Given the description of an element on the screen output the (x, y) to click on. 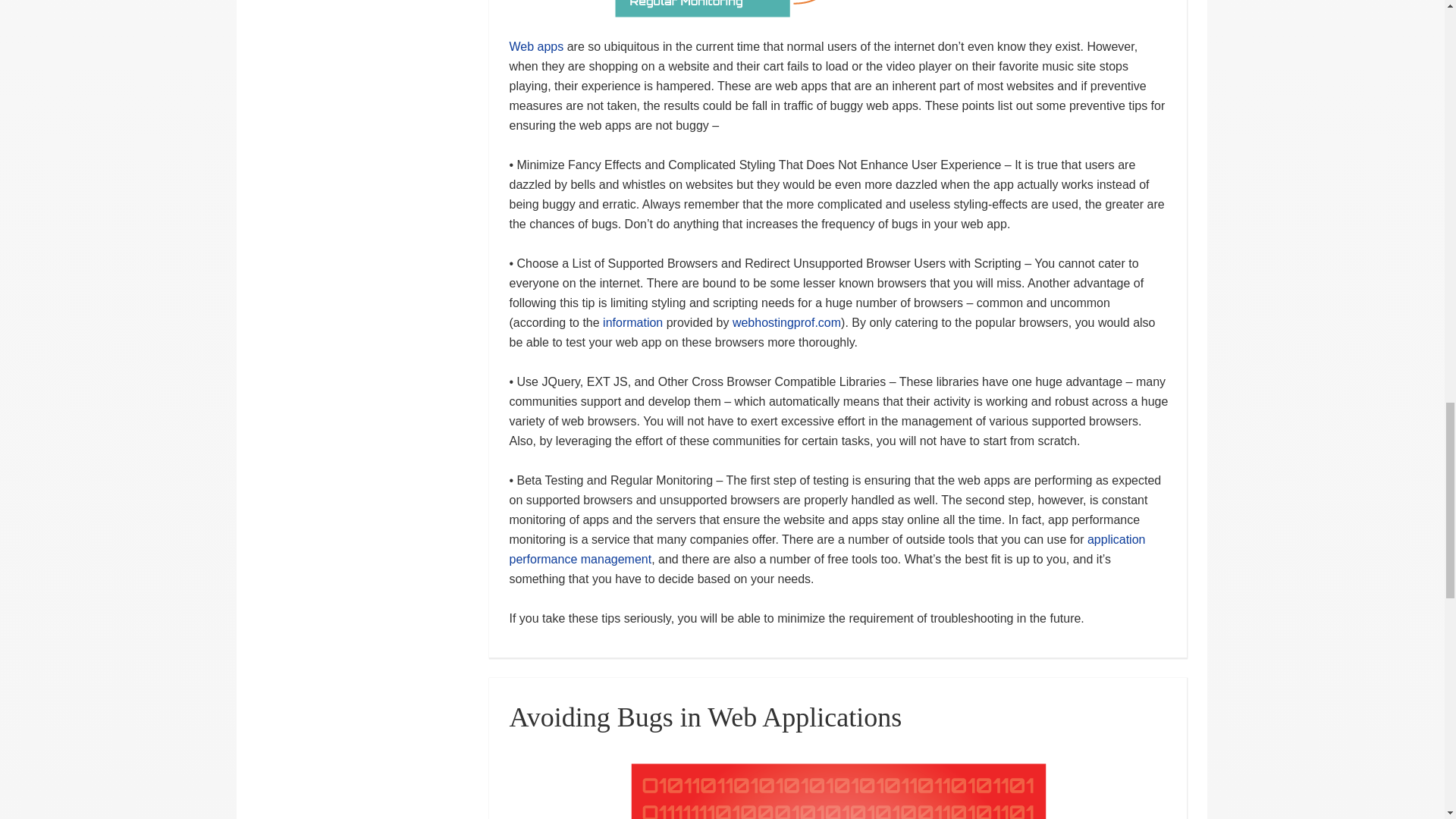
Web apps (535, 46)
information (632, 322)
Avoiding Bugs in Web Applications (704, 716)
webhostingprof.com (786, 322)
application performance management (826, 549)
